Given the description of an element on the screen output the (x, y) to click on. 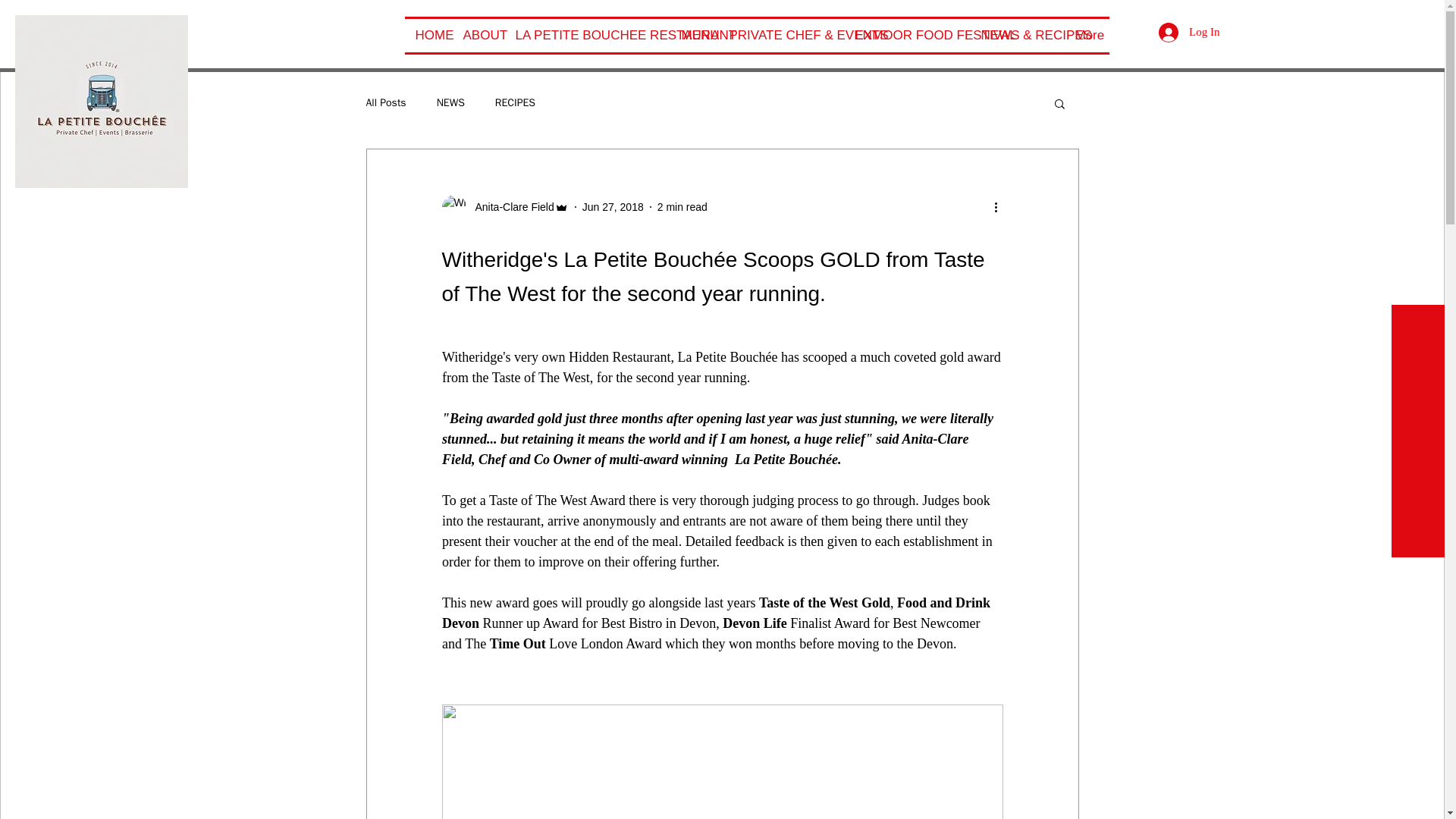
LA PETITE BOUCHEE RESTAURANT (588, 35)
RECIPES (515, 102)
NEWS (450, 102)
HOME (428, 35)
Anita-Clare Field (509, 206)
ABOUT (477, 35)
2 min read (682, 205)
Anita-Clare Field (504, 206)
Jun 27, 2018 (612, 205)
Log In (1189, 32)
